Given the description of an element on the screen output the (x, y) to click on. 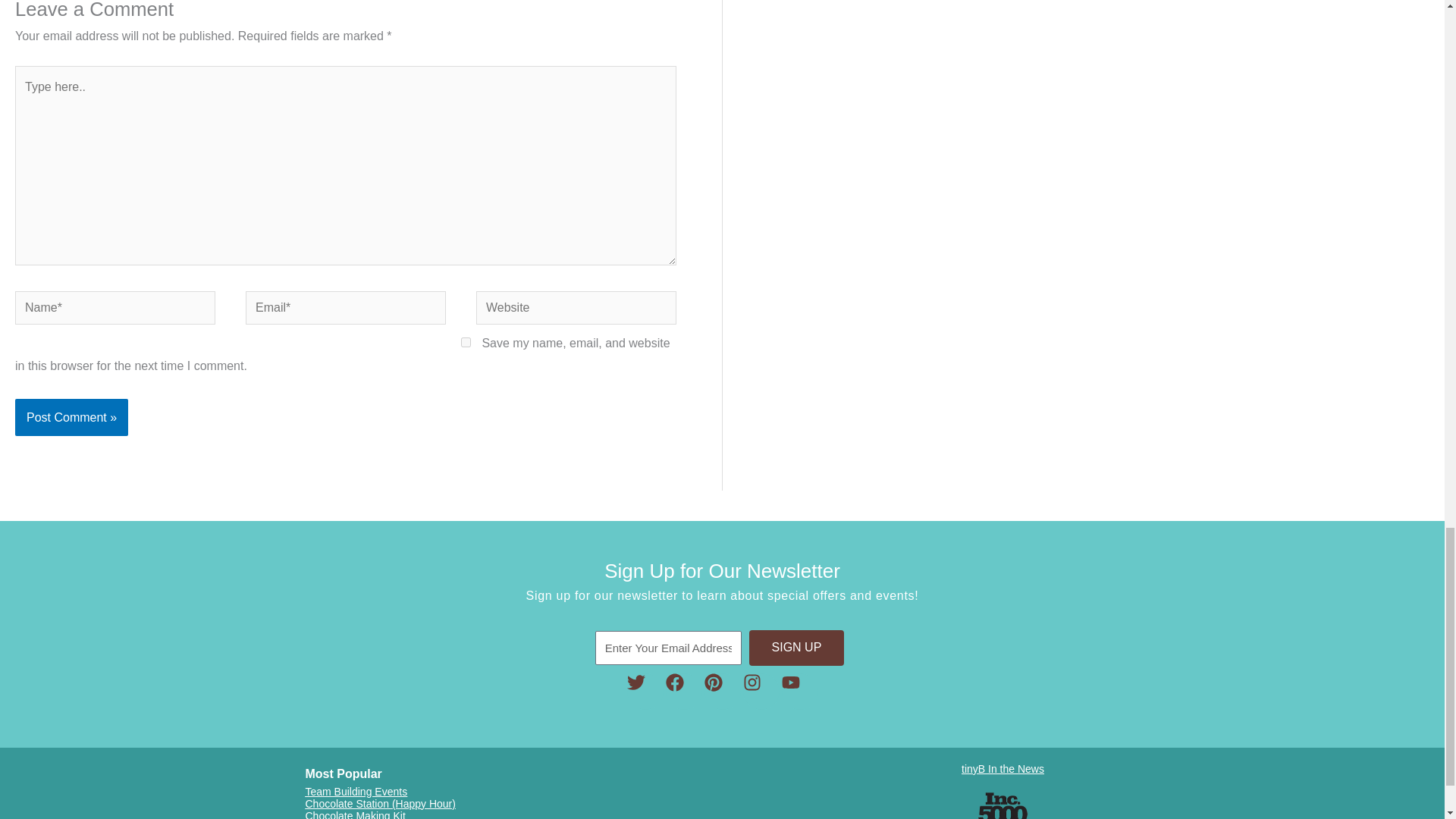
yes (465, 342)
